Given the description of an element on the screen output the (x, y) to click on. 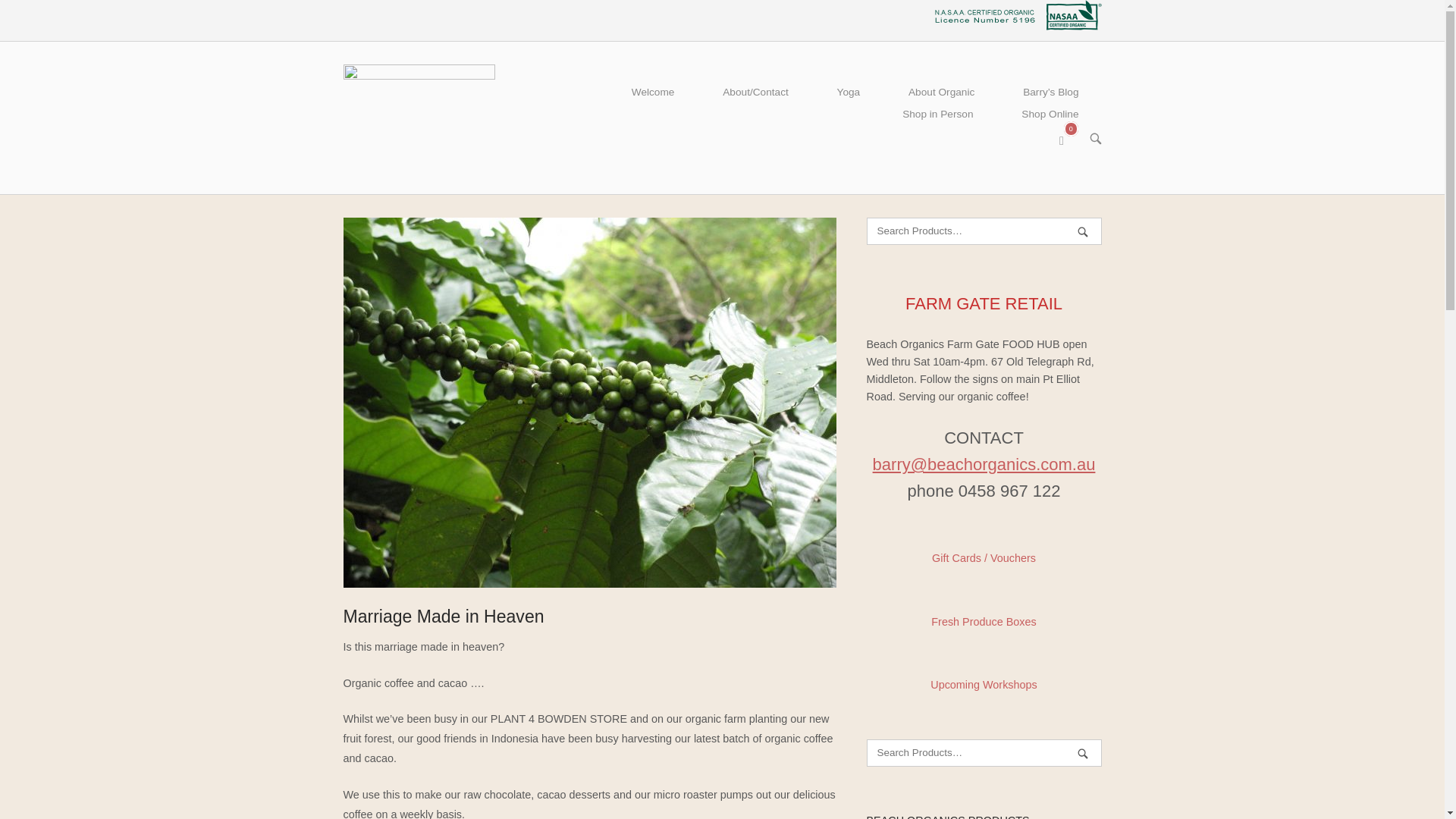
Fresh Produce Boxes (983, 621)
Home (418, 116)
Welcome (652, 92)
Search for: (983, 230)
Upcoming Workshops (983, 684)
About Organic (941, 92)
Shop in Person (937, 114)
Shop Online (1049, 114)
Yoga (1070, 138)
